Given the description of an element on the screen output the (x, y) to click on. 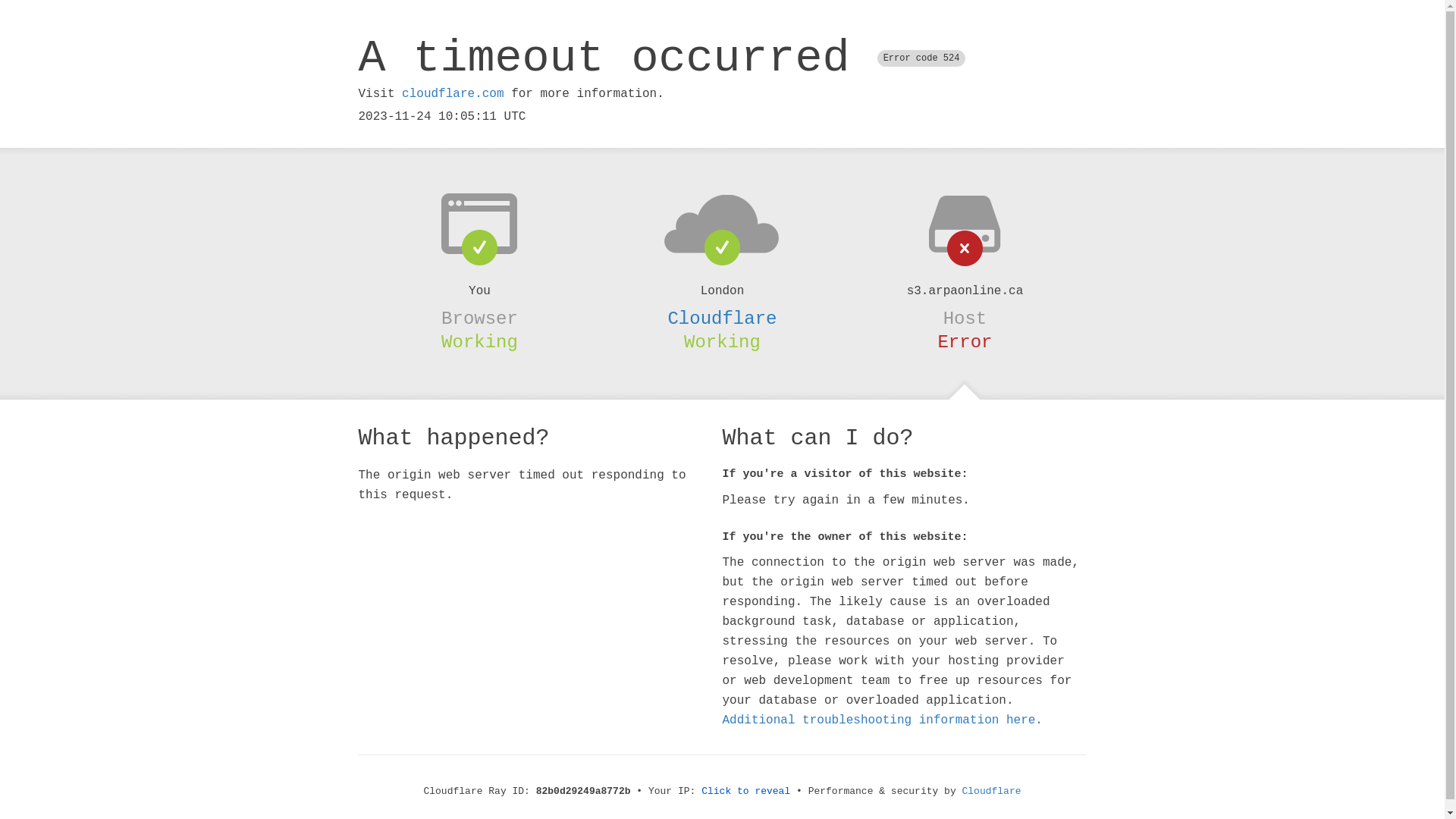
cloudflare.com Element type: text (452, 93)
Cloudflare Element type: text (721, 318)
Cloudflare Element type: text (991, 791)
Click to reveal Element type: text (745, 791)
Additional troubleshooting information here. Element type: text (881, 720)
